Given the description of an element on the screen output the (x, y) to click on. 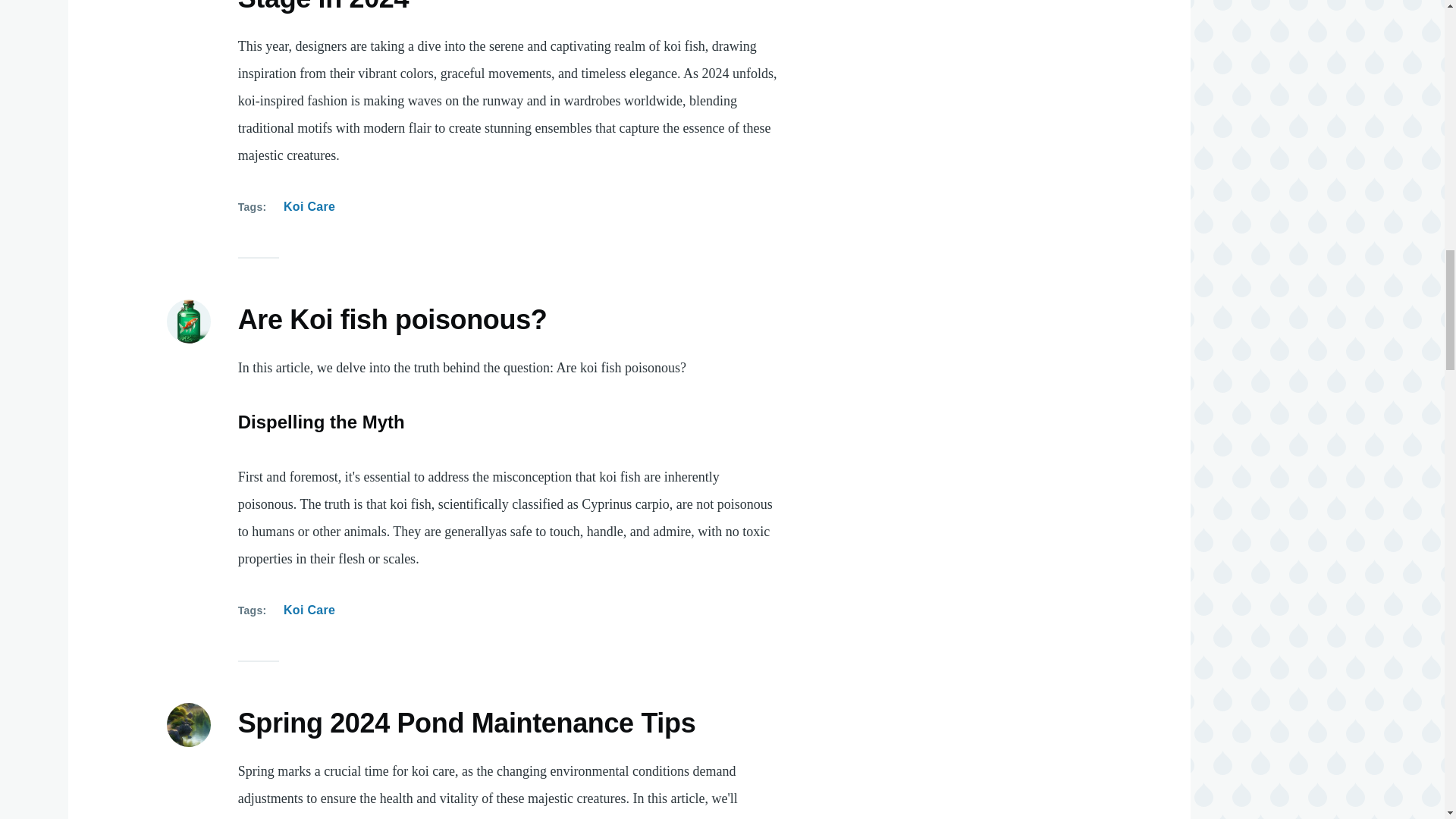
Koi Fashion Design Trends Take Center Stage in 2024 (489, 7)
Are Koi fish poisonous? (392, 320)
Koi Care (308, 206)
Spring 2024 Pond Maintenance Tips (466, 724)
Koi Care (308, 609)
koi care (391, 818)
